Given the description of an element on the screen output the (x, y) to click on. 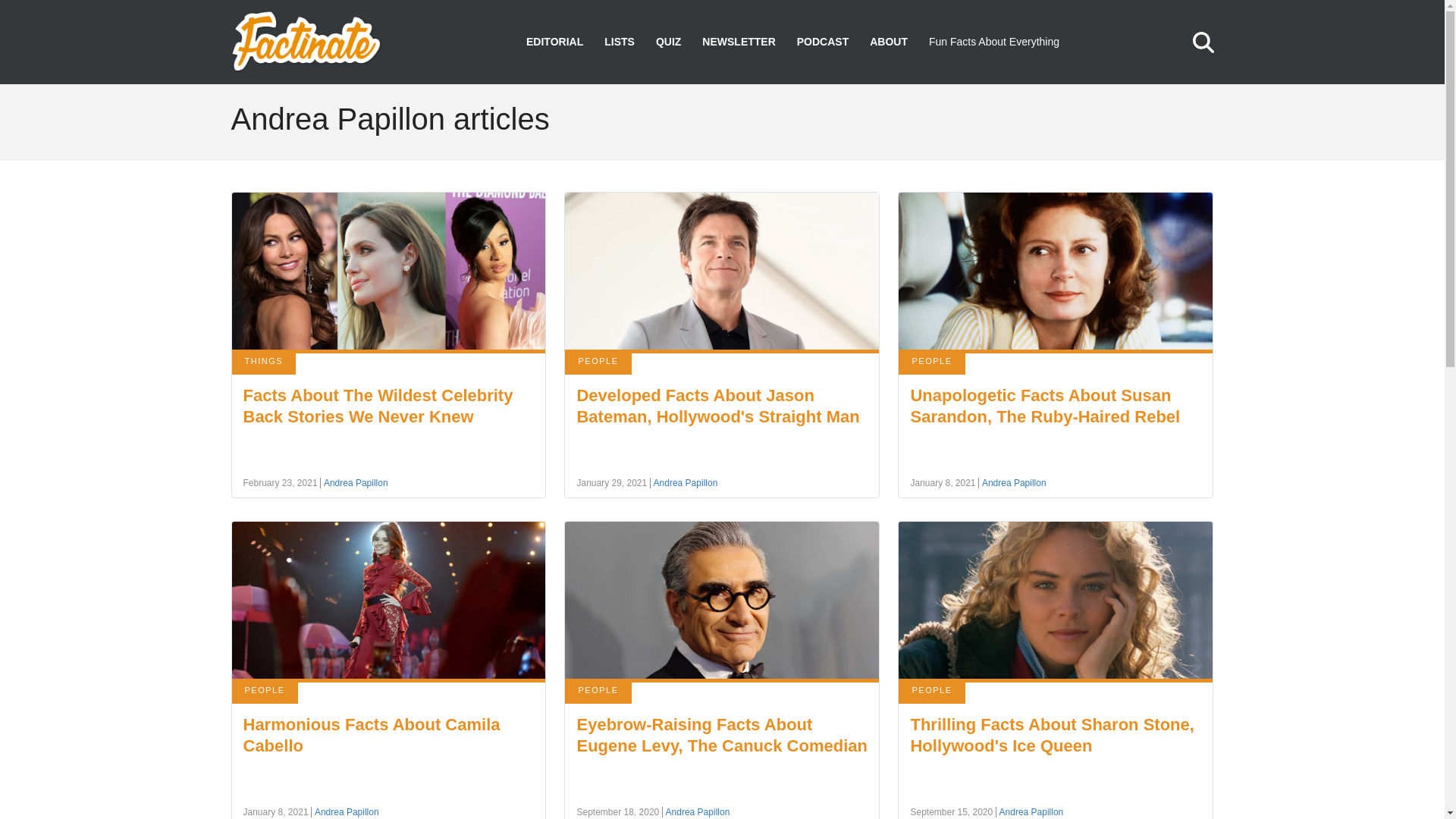
Facts About The Wildest Celebrity Back Stories We Never Knew (377, 405)
EDITORIAL (554, 41)
NEWSLETTER (737, 41)
QUIZ (668, 41)
Andrea Papillon (354, 482)
LISTS (619, 41)
THINGS (264, 361)
PODCAST (822, 41)
ABOUT (888, 41)
